Given the description of an element on the screen output the (x, y) to click on. 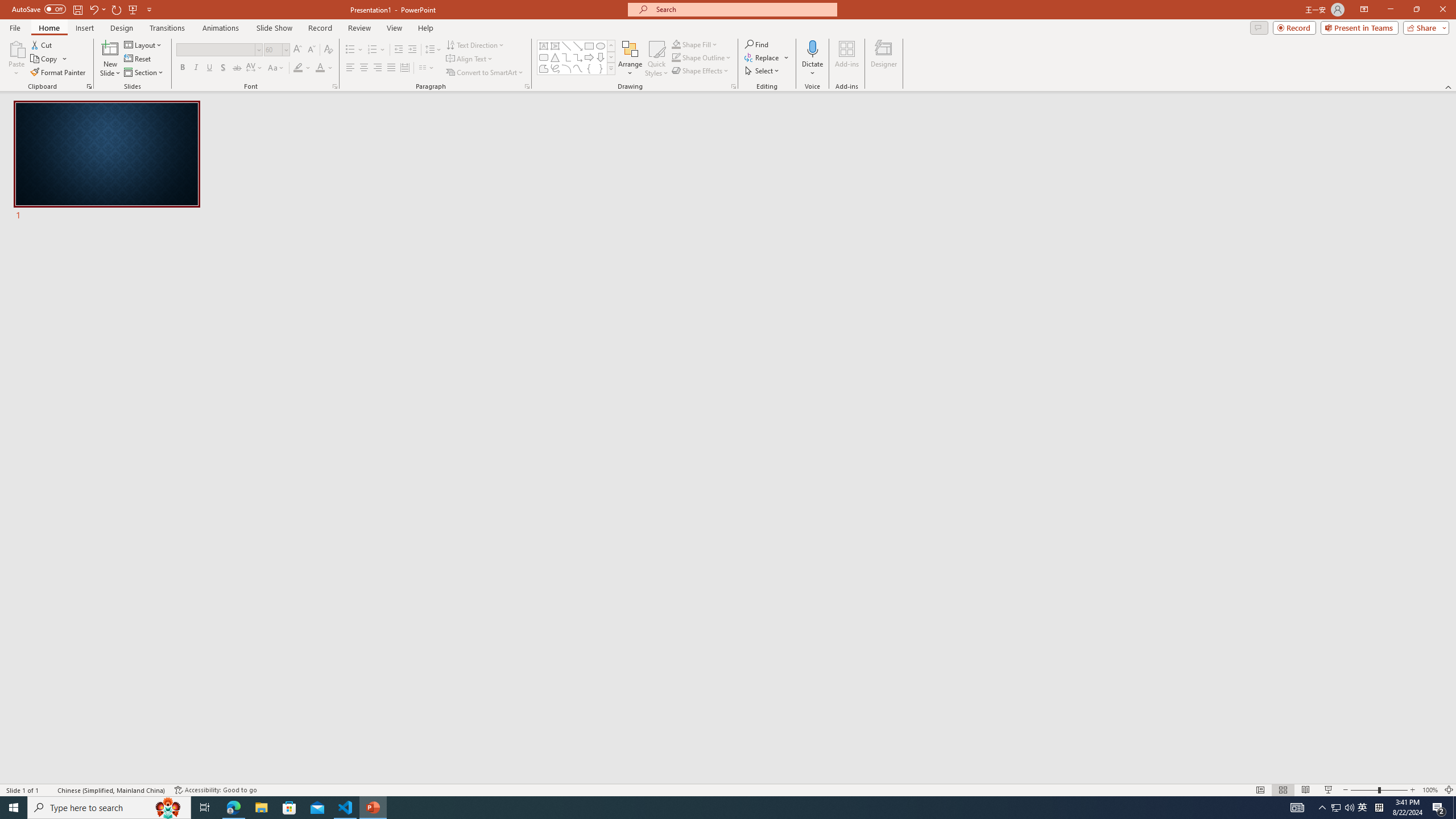
Section (144, 72)
Freeform: Shape (543, 68)
Shape Fill Orange, Accent 2 (675, 44)
Oval (600, 45)
Decrease Indent (398, 49)
Rectangle (589, 45)
Arrow: Down (600, 57)
Line Arrow (577, 45)
Isosceles Triangle (554, 57)
Vertical Text Box (554, 45)
